Given the description of an element on the screen output the (x, y) to click on. 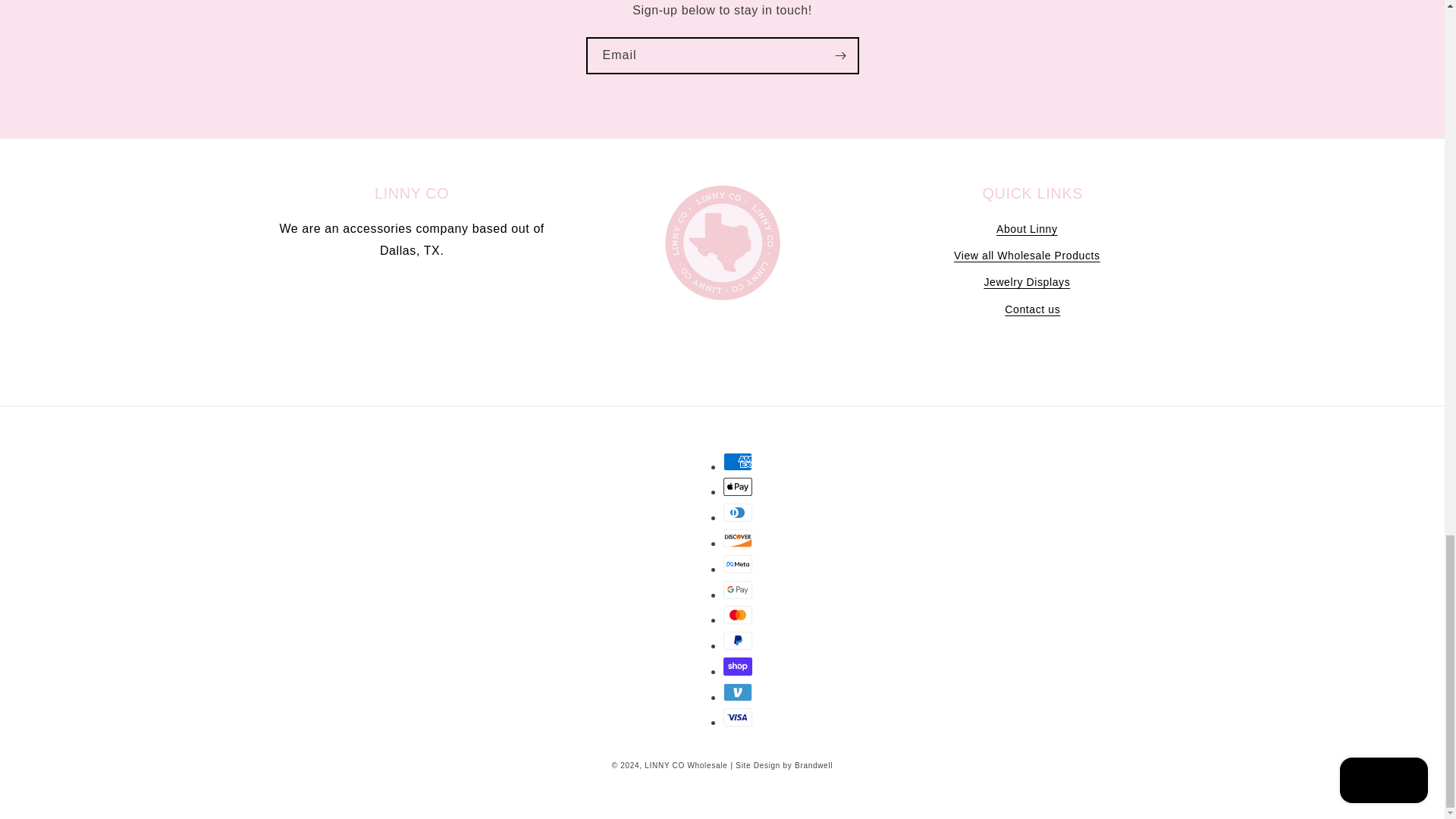
Venmo (737, 692)
Google Pay (737, 589)
Meta Pay (737, 564)
Shop Pay (737, 666)
American Express (737, 461)
Apple Pay (737, 486)
Discover (737, 538)
PayPal (737, 640)
Diners Club (737, 512)
Mastercard (737, 615)
